Given the description of an element on the screen output the (x, y) to click on. 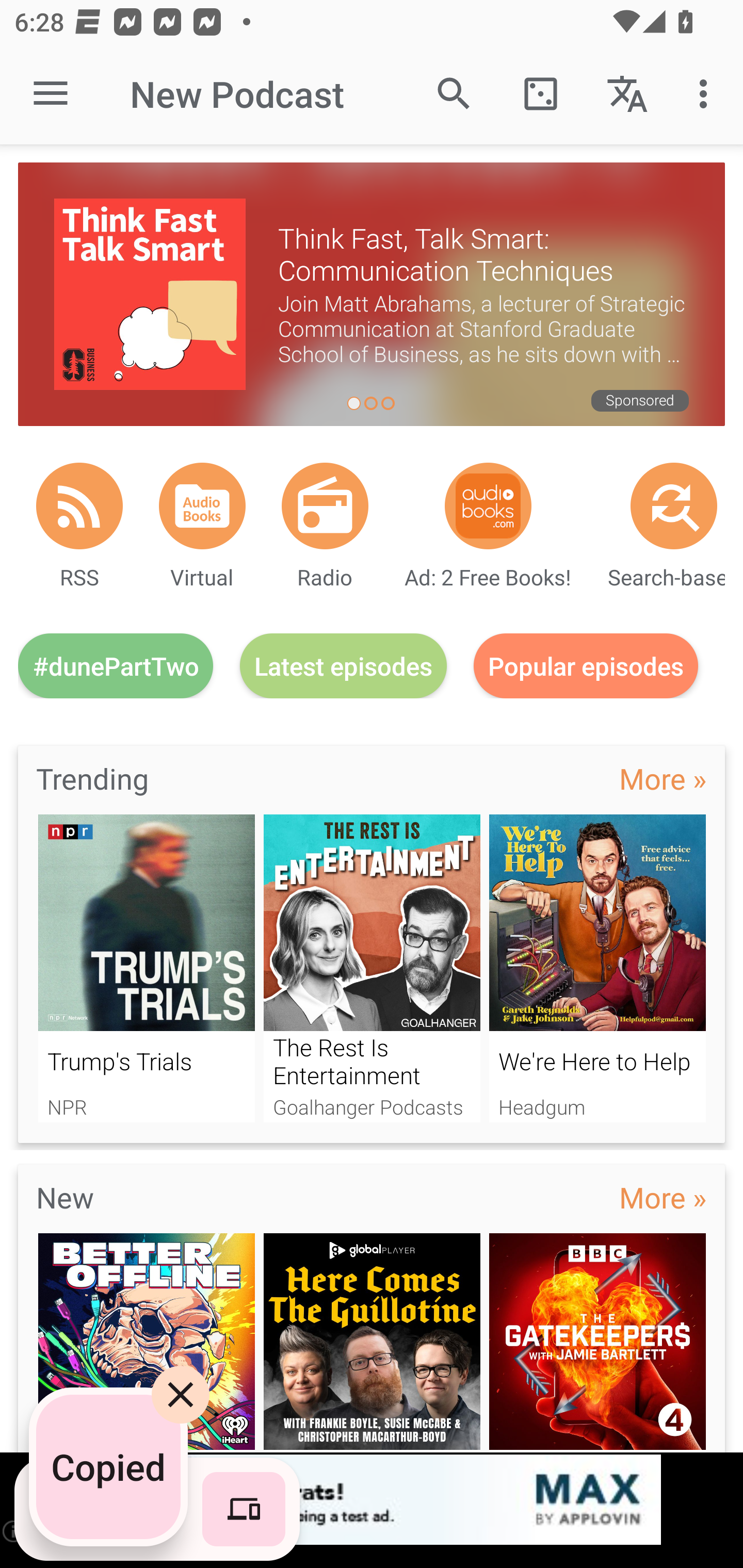
Open navigation sidebar (50, 93)
Search (453, 93)
Random pick (540, 93)
Podcast languages (626, 93)
More options (706, 93)
RSS (79, 505)
Virtual (202, 505)
Radio (324, 505)
Search-based (673, 505)
#dunePartTwo (115, 665)
Latest episodes (342, 665)
Popular episodes (586, 665)
More » (662, 778)
Trump's Trials NPR (145, 967)
The Rest Is Entertainment Goalhanger Podcasts (371, 967)
We're Here to Help Headgum (596, 967)
More » (662, 1196)
Better Offline (145, 1342)
Here Comes The Guillotine (371, 1342)
The Gatekeepers (596, 1342)
